Given the description of an element on the screen output the (x, y) to click on. 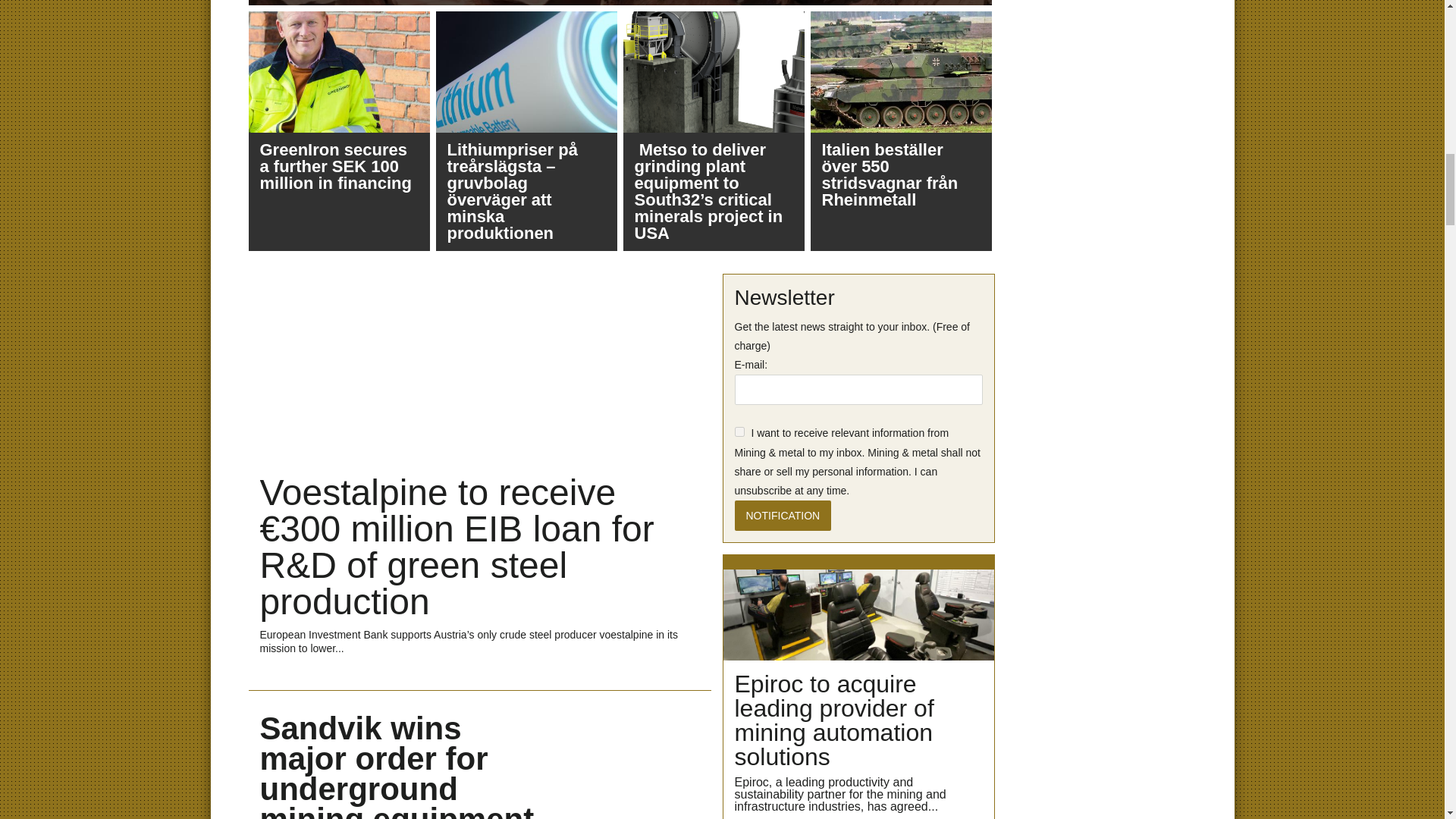
3rd party ad content (1100, 368)
3rd party ad content (1100, 785)
3rd party ad content (1098, 85)
Notification (782, 515)
